Given the description of an element on the screen output the (x, y) to click on. 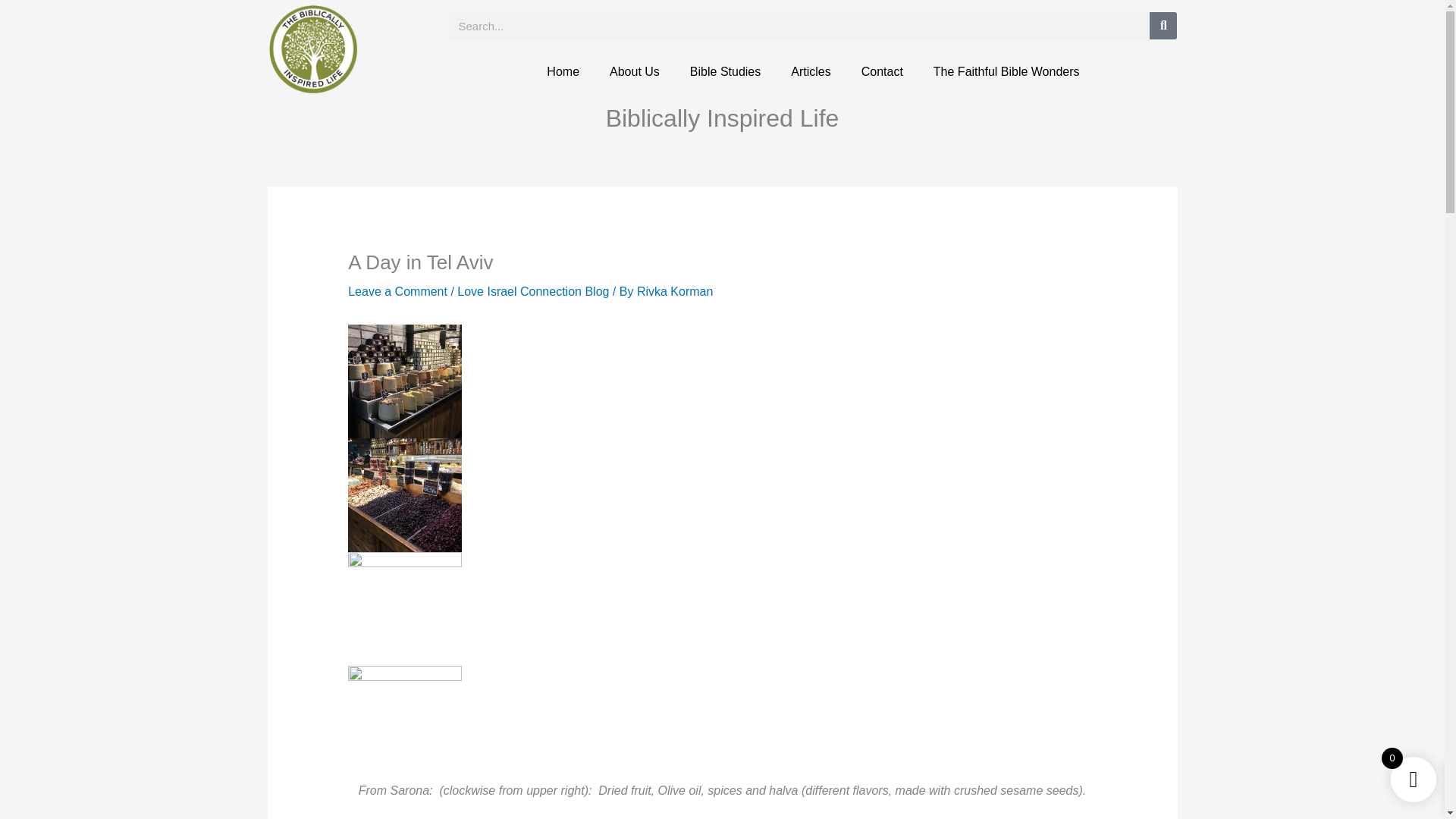
Bible Studies (725, 71)
Home (562, 71)
About Us (634, 71)
View all posts by Rivka Korman (675, 291)
Search (1163, 25)
